Given the description of an element on the screen output the (x, y) to click on. 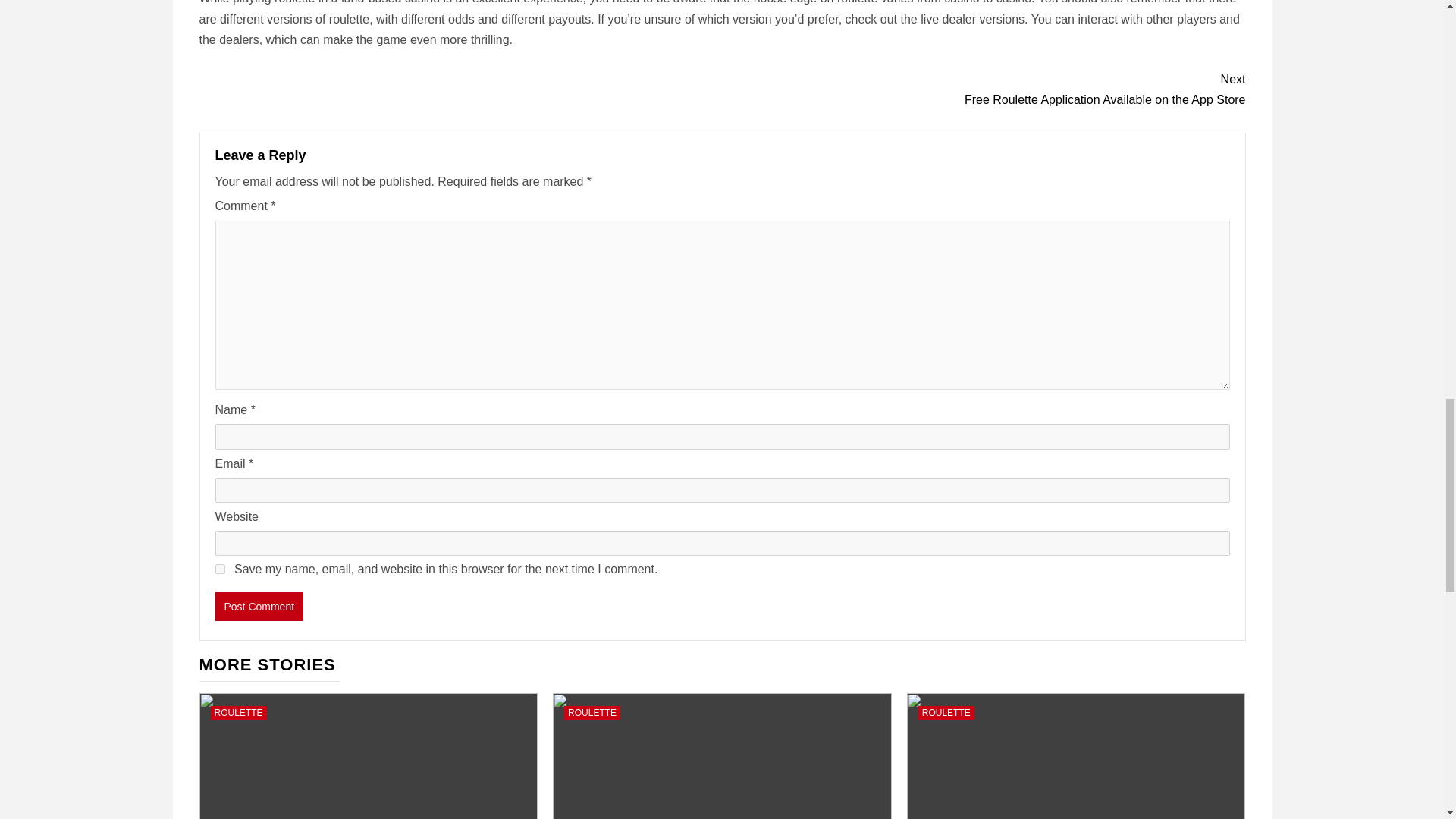
Post Comment (259, 606)
ROULETTE (946, 712)
ROULETTE (592, 712)
yes (220, 569)
Post Comment (259, 606)
ROULETTE (983, 88)
